Given the description of an element on the screen output the (x, y) to click on. 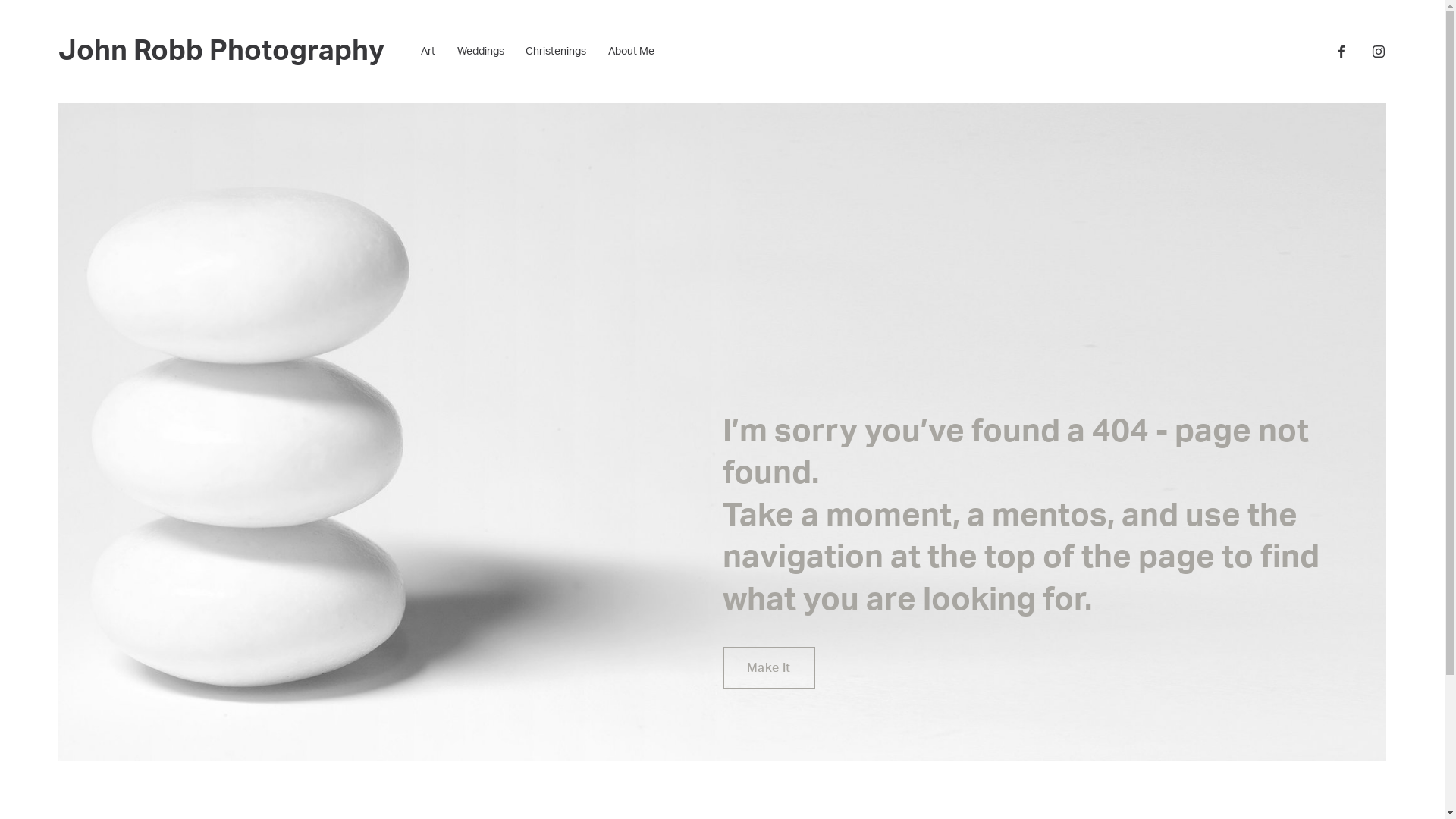
Christenings Element type: text (555, 51)
Make It Element type: text (767, 667)
John Robb Photography Element type: text (221, 51)
About Me Element type: text (631, 51)
Art Element type: text (427, 51)
Weddings Element type: text (480, 51)
